Given the description of an element on the screen output the (x, y) to click on. 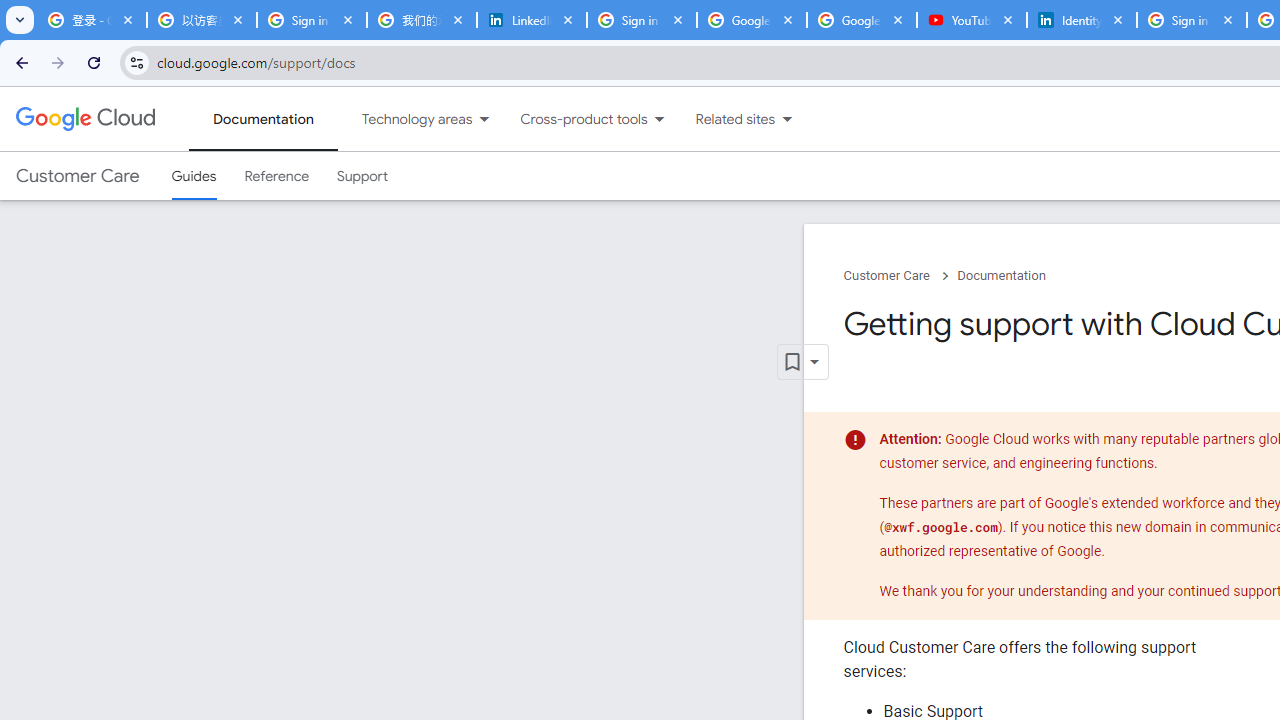
Technology areas (404, 119)
